Given the description of an element on the screen output the (x, y) to click on. 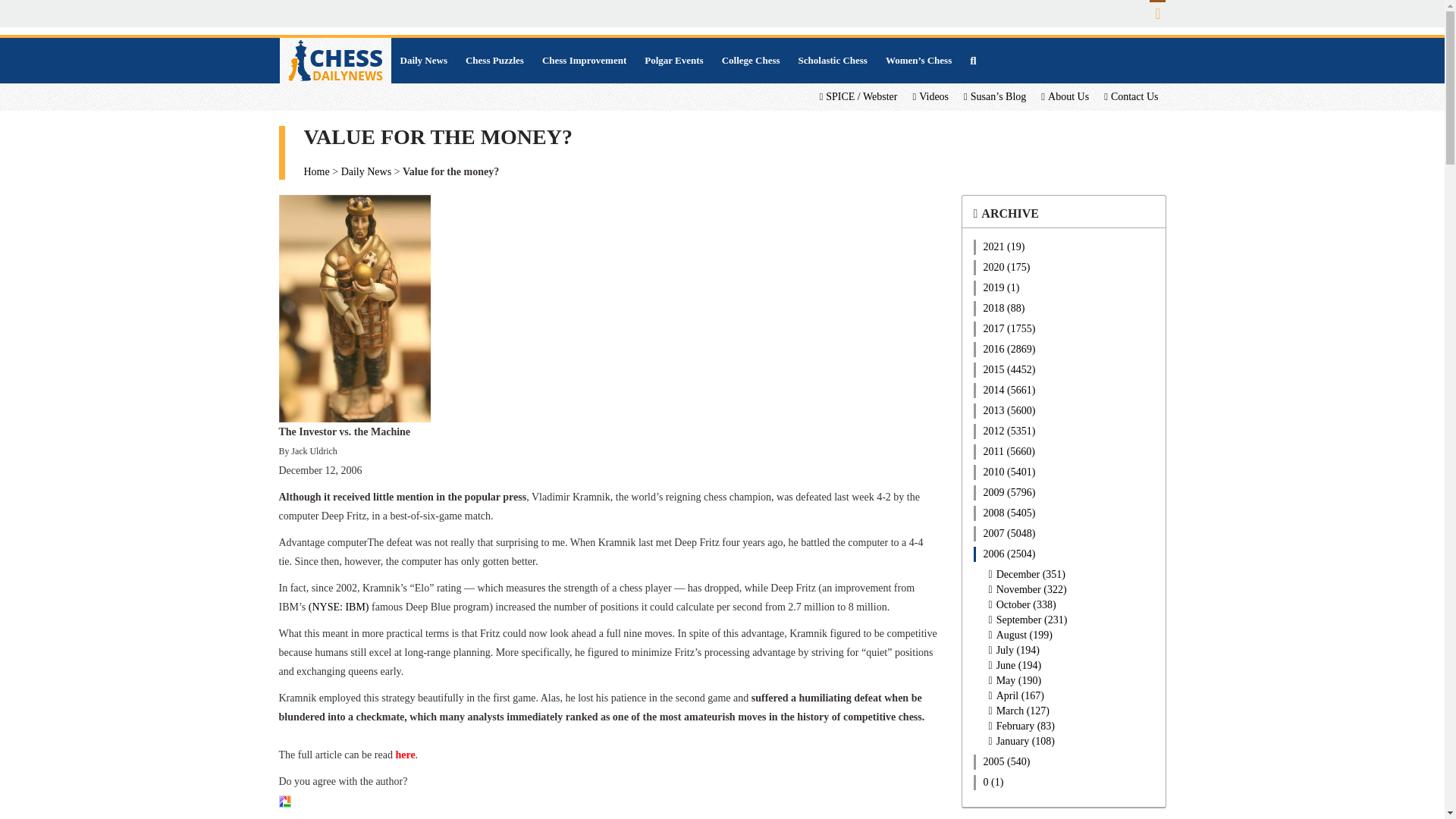
Daily News (424, 60)
2020 (1064, 267)
Videos (930, 96)
College Chess (751, 60)
Go to the Daily News category archives. (365, 171)
Chess Improvement (583, 60)
About Us (1064, 96)
Polgar Events (672, 60)
Chess Daily News by Susan Polgar (334, 60)
Chess Puzzles (494, 60)
Go to Chess Daily News by Susan Polgar. (315, 171)
Contact Us (1131, 96)
Scholastic Chess (832, 60)
2021 (1064, 246)
